Given the description of an element on the screen output the (x, y) to click on. 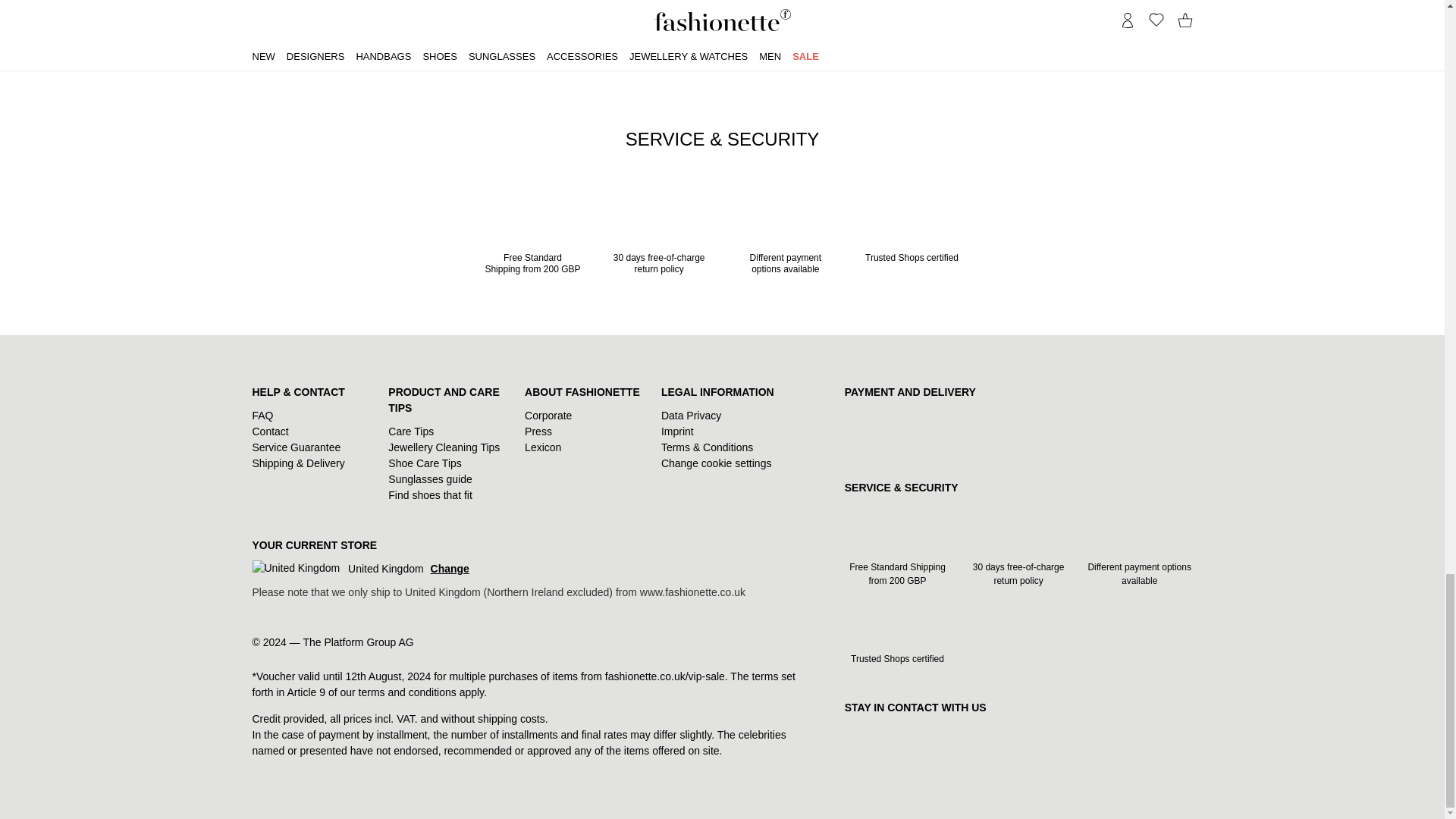
Sign up now (876, 31)
Free Standard Shipping from 200 GBP (532, 236)
FAQ (262, 415)
Trusted Shops certified (911, 231)
Contact (269, 431)
Sign up now (876, 31)
FAQ (262, 415)
Different payment options available (784, 236)
30 days free-of-charge return policy (659, 236)
